Given the description of an element on the screen output the (x, y) to click on. 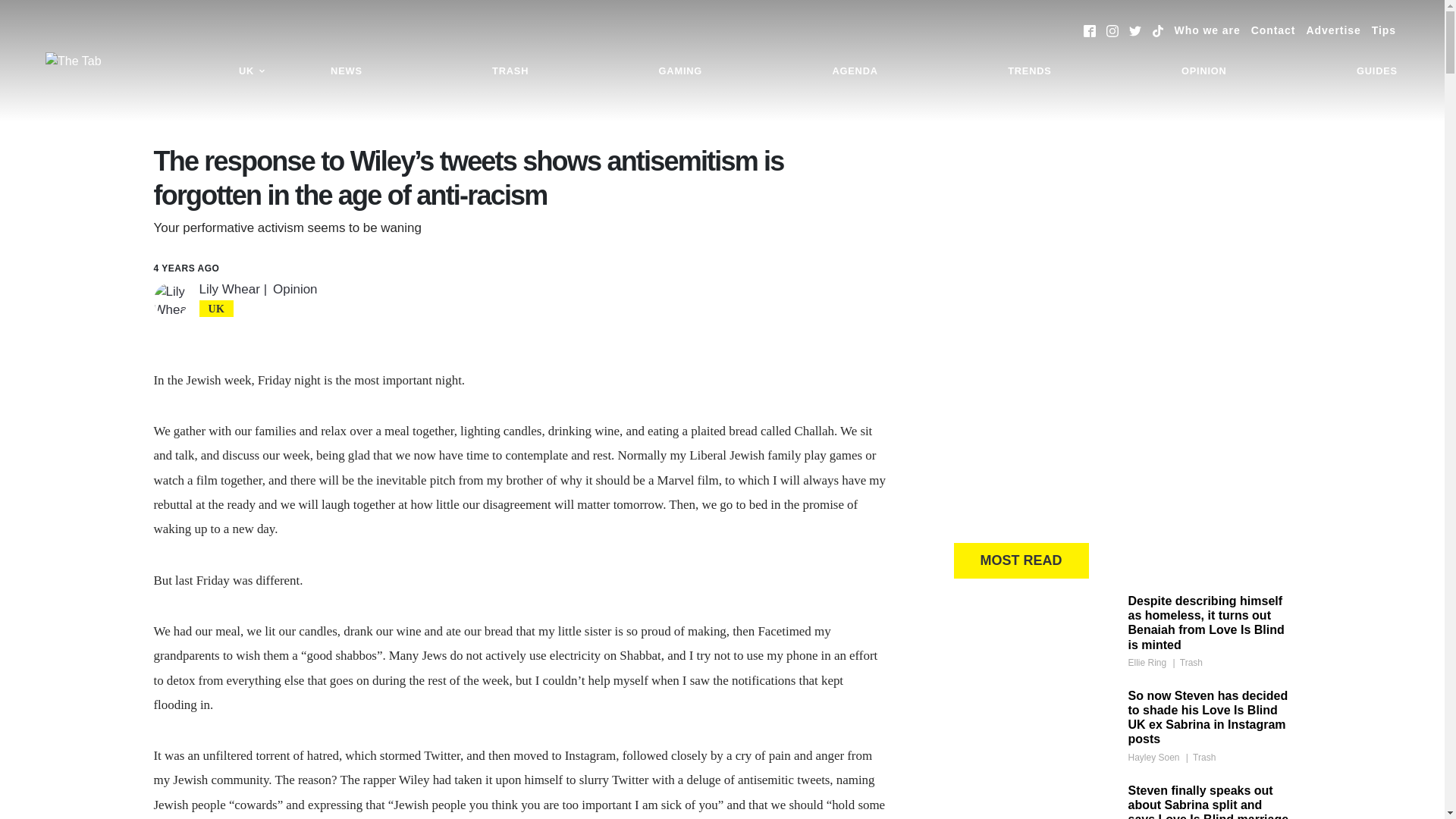
GAMING (680, 71)
Tips (1383, 29)
TRASH (510, 71)
NEWS (346, 71)
AGENDA (854, 71)
Contact (1272, 29)
Advertise (1332, 29)
UK (252, 71)
Who we are (1207, 29)
TRENDS (1028, 71)
